Given the description of an element on the screen output the (x, y) to click on. 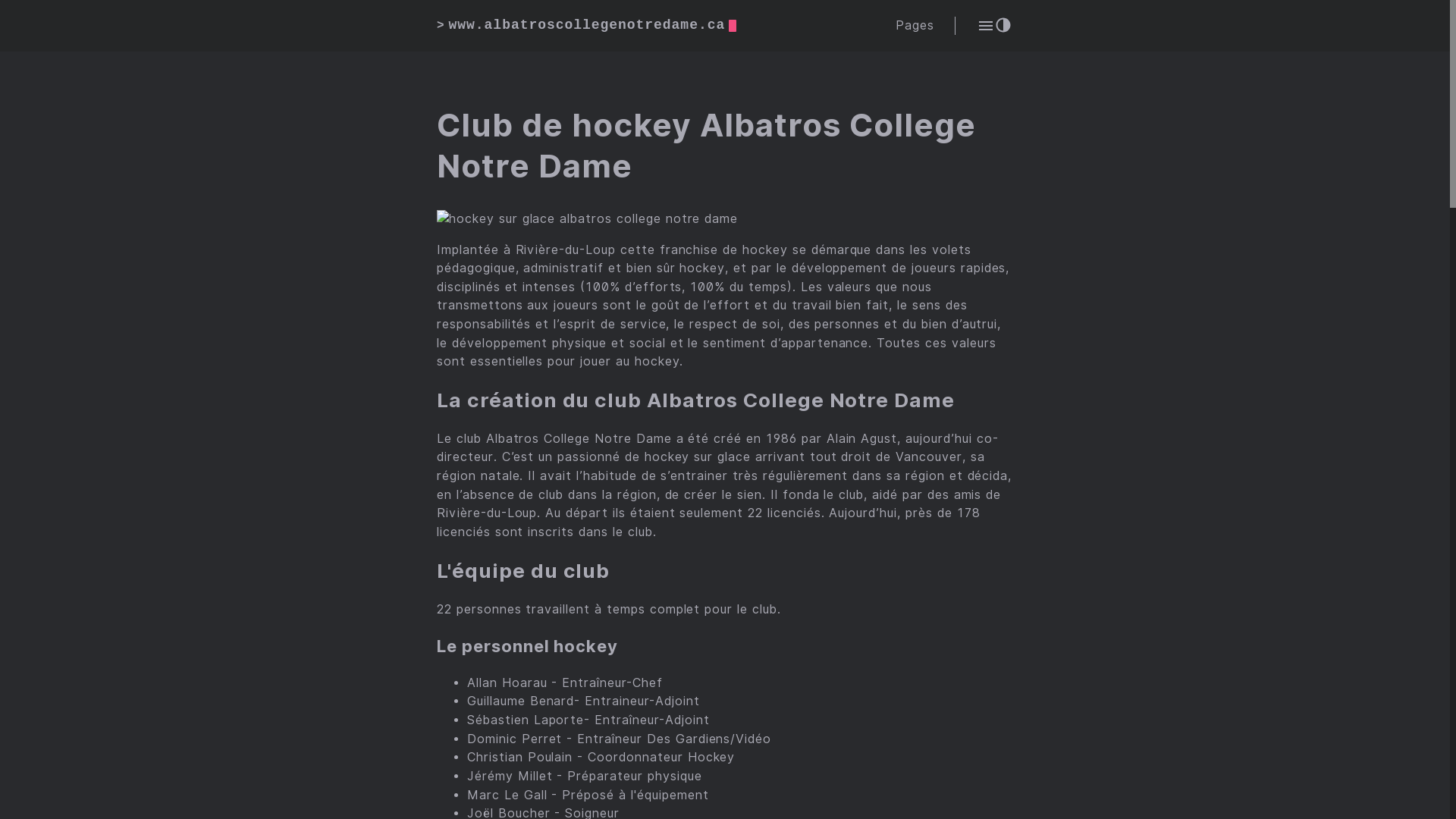
Pages Element type: text (914, 25)
>
www.albatroscollegenotredame.ca Element type: text (586, 25)
Club de hockey Albatros College Notre Dame Element type: text (724, 145)
